Given the description of an element on the screen output the (x, y) to click on. 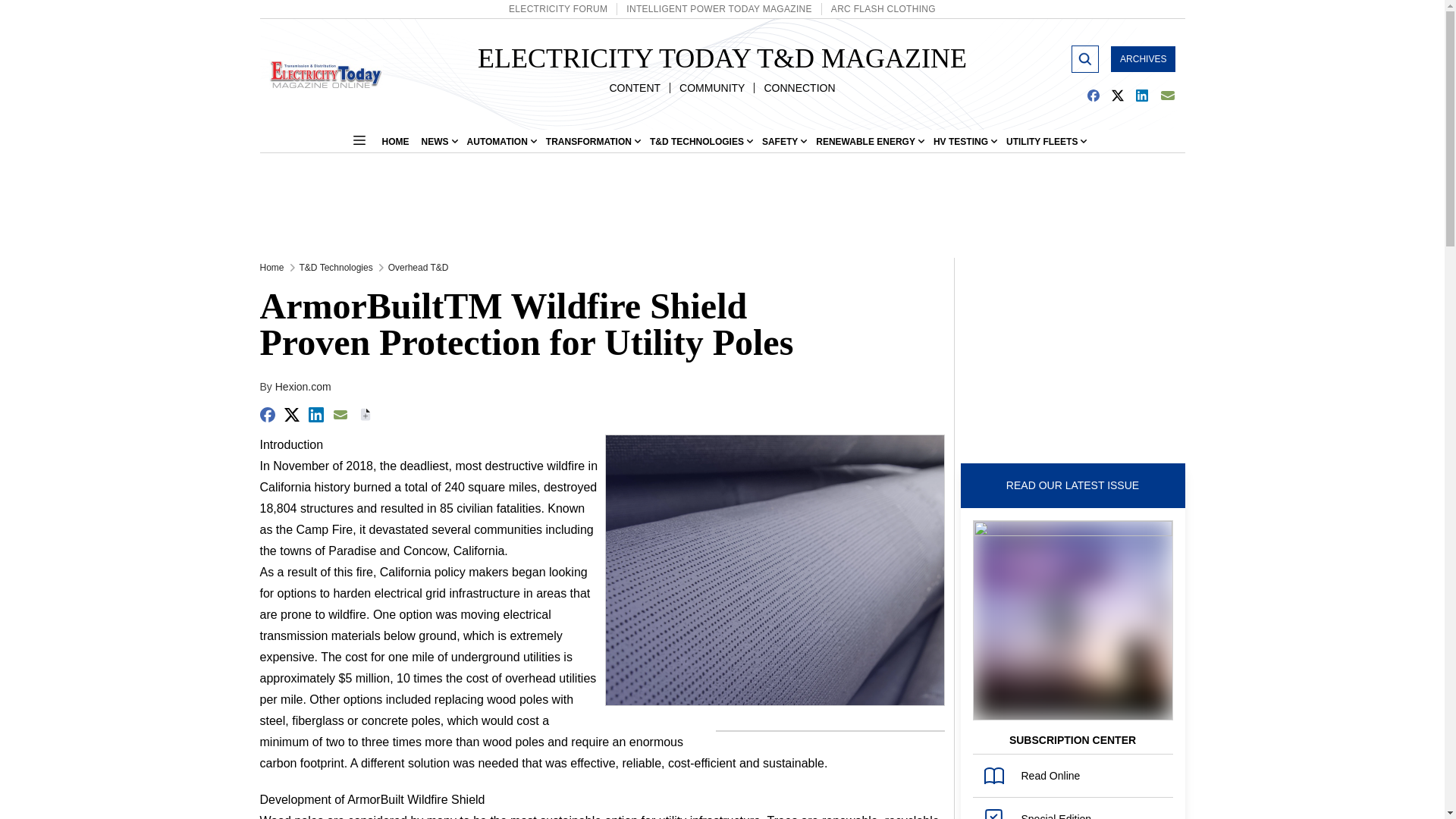
INTELLIGENT POWER TODAY MAGAZINE (718, 9)
ARC FLASH CLOTHING (882, 9)
ELECTRICITY FORUM (557, 9)
